Given the description of an element on the screen output the (x, y) to click on. 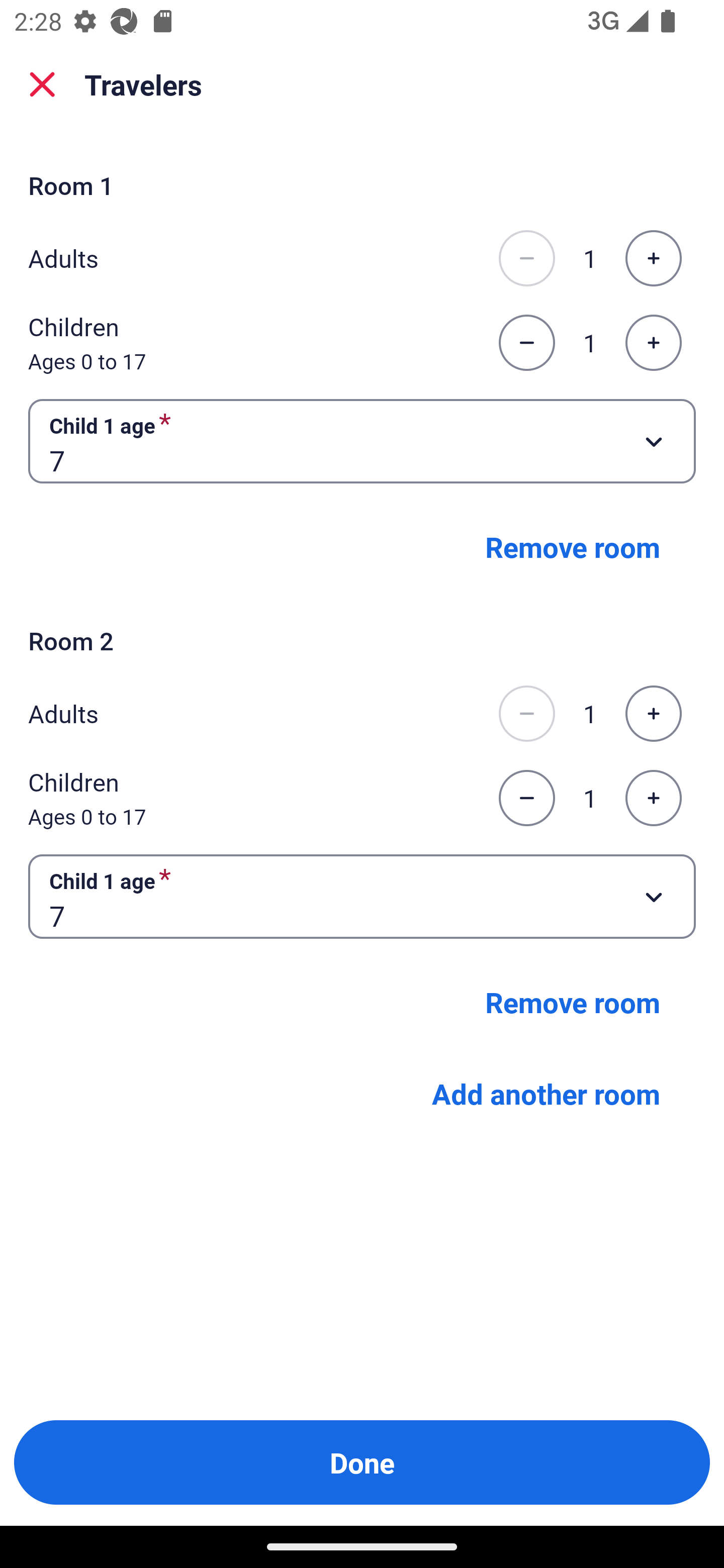
close (42, 84)
Decrease the number of adults (526, 258)
Increase the number of adults (653, 258)
Decrease the number of children (526, 343)
Increase the number of children (653, 343)
Child 1 age required Button 7 (361, 440)
Remove room (572, 546)
Decrease the number of adults (526, 713)
Increase the number of adults (653, 713)
Decrease the number of children (526, 797)
Increase the number of children (653, 797)
Child 1 age required Button 7 (361, 896)
Remove room (572, 1001)
Add another room (545, 1093)
Done (361, 1462)
